Given the description of an element on the screen output the (x, y) to click on. 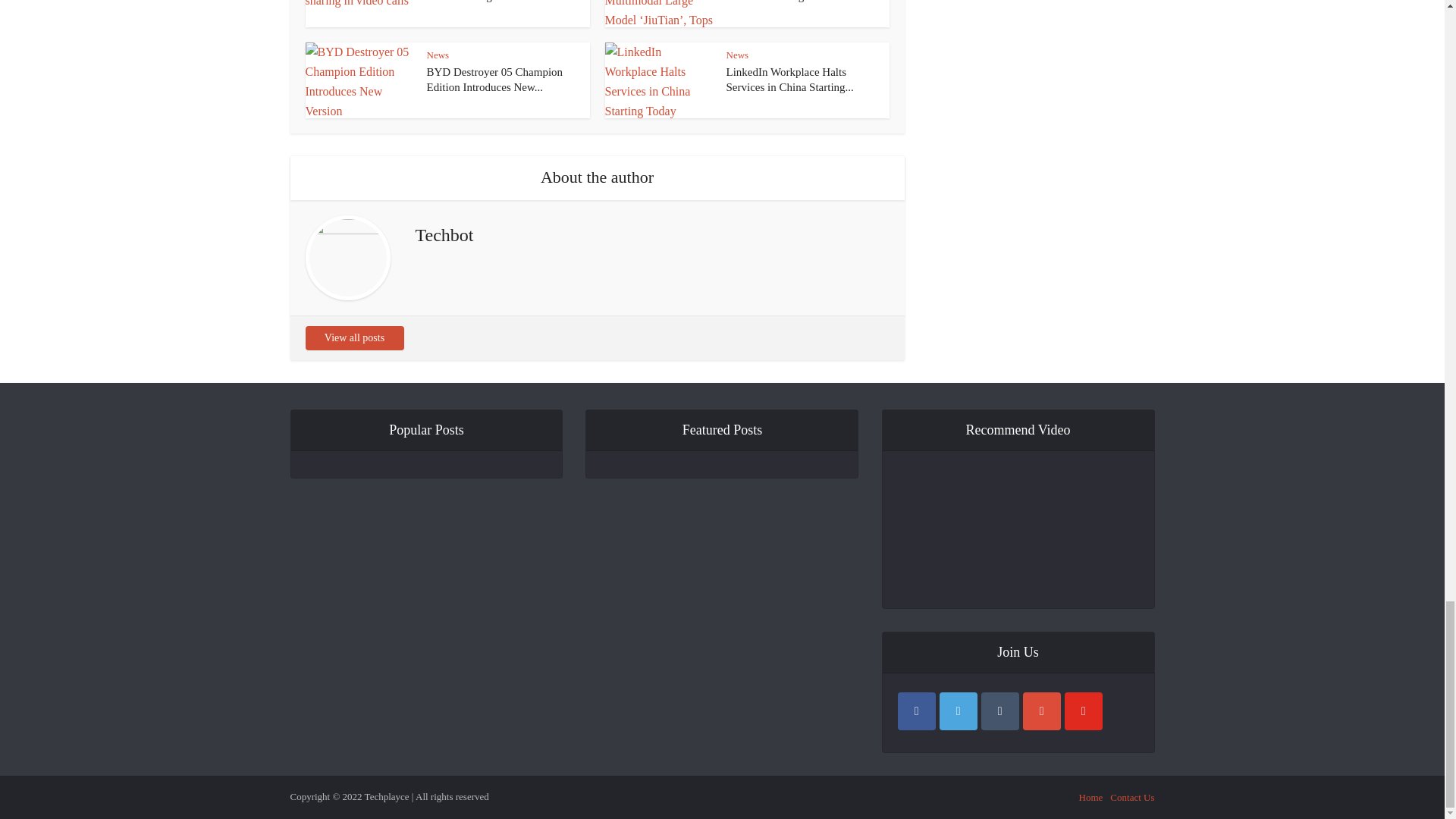
BYD Destroyer 05 Champion Edition Introduces New Version (494, 79)
WhatsApp finally lets you do screen sharing in video... (493, 1)
LinkedIn Workplace Halts Services in China Starting Today (789, 79)
WhatsApp finally lets you do screen sharing in video calls (493, 1)
